Given the description of an element on the screen output the (x, y) to click on. 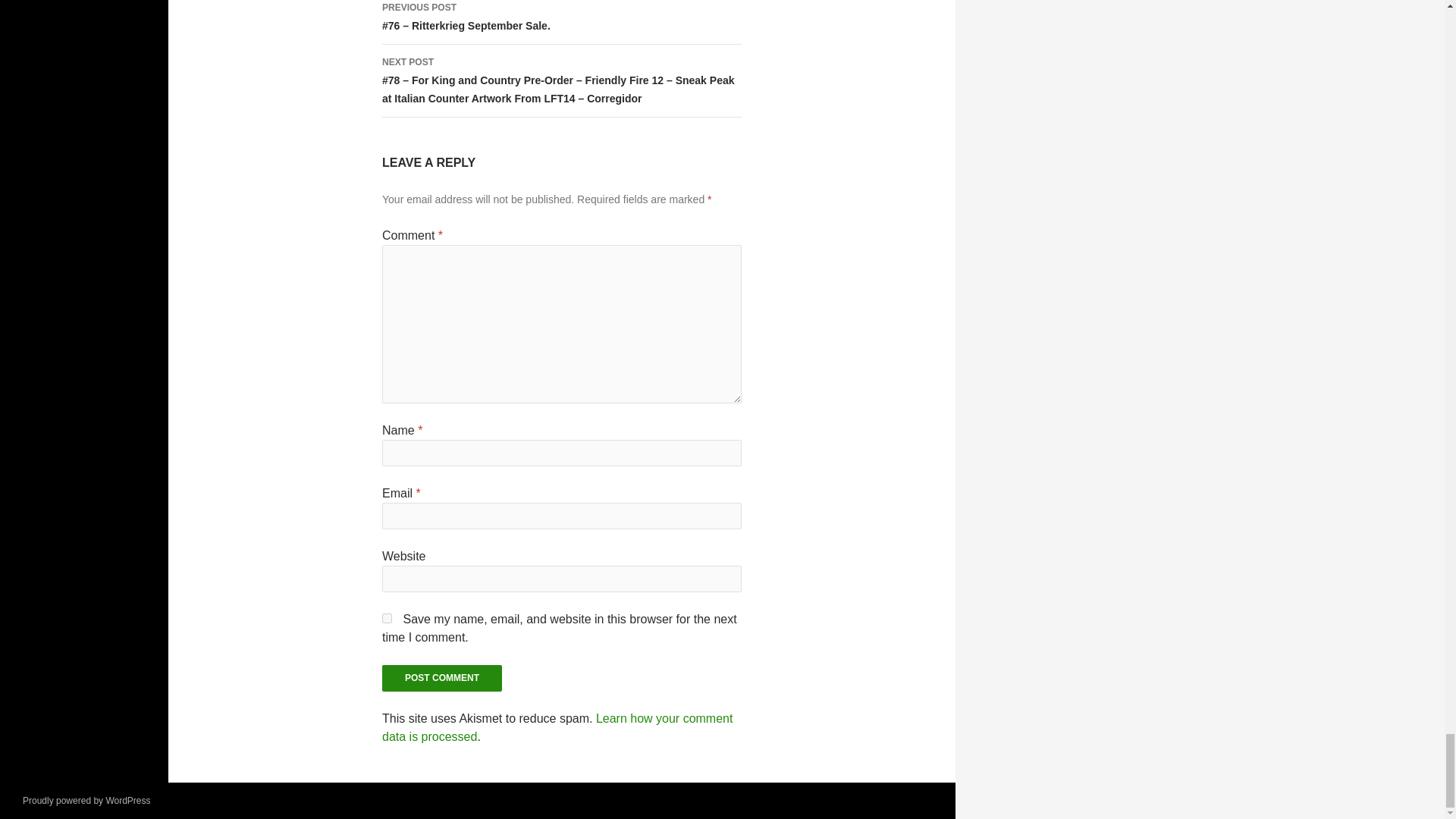
yes (386, 618)
Post Comment (441, 678)
